Given the description of an element on the screen output the (x, y) to click on. 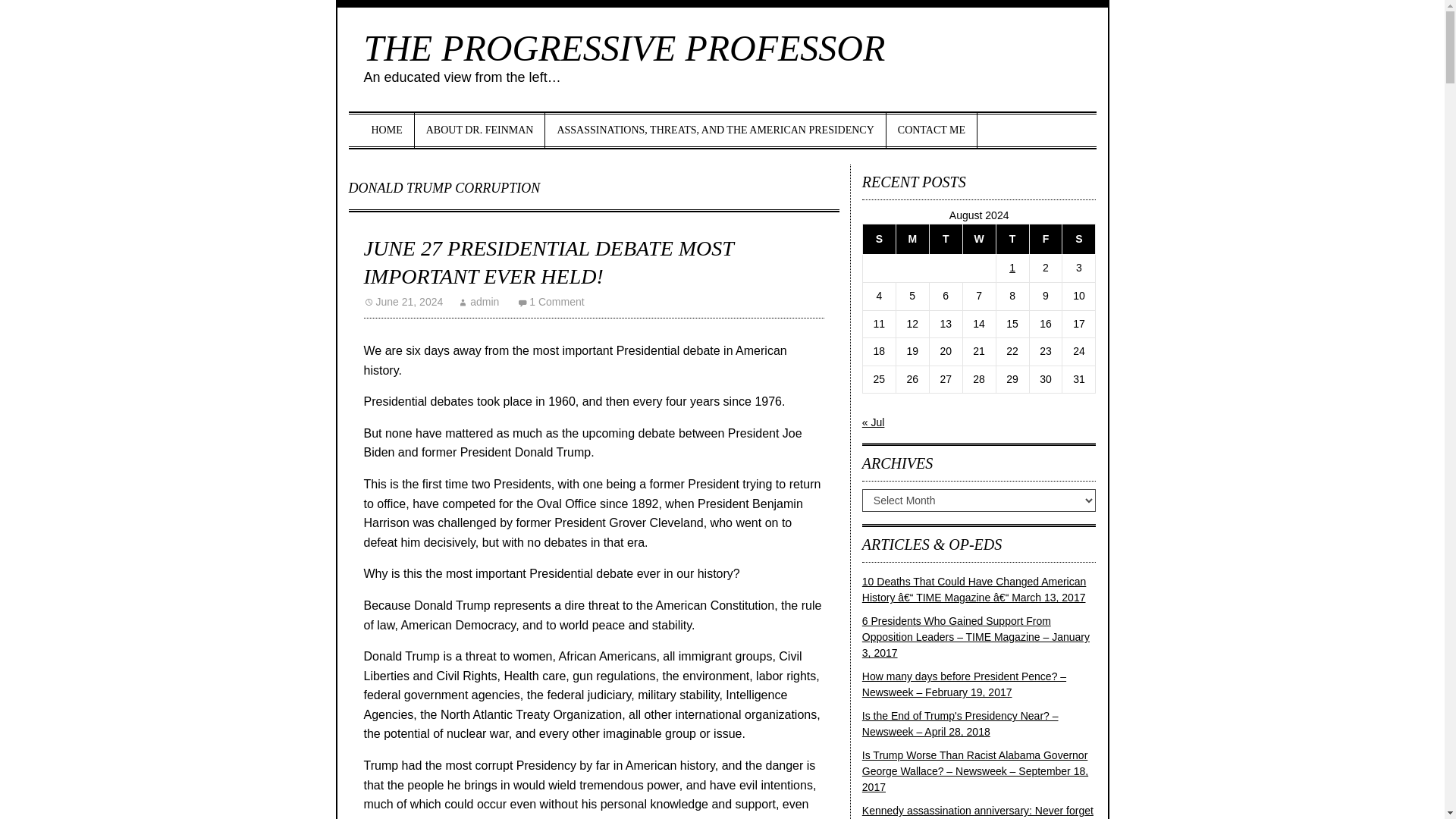
JUNE 27 PRESIDENTIAL DEBATE MOST IMPORTANT EVER HELD! (548, 261)
June 21, 2024 (404, 301)
About Dr. Feinman (480, 130)
ABOUT DR. FEINMAN (480, 130)
THE PROGRESSIVE PROFESSOR (624, 47)
Assassinations, Threats, and the American Presidency (714, 130)
HOME (386, 130)
9:04 pm (404, 301)
The Progressive Professor (624, 47)
admin (478, 301)
